Given the description of an element on the screen output the (x, y) to click on. 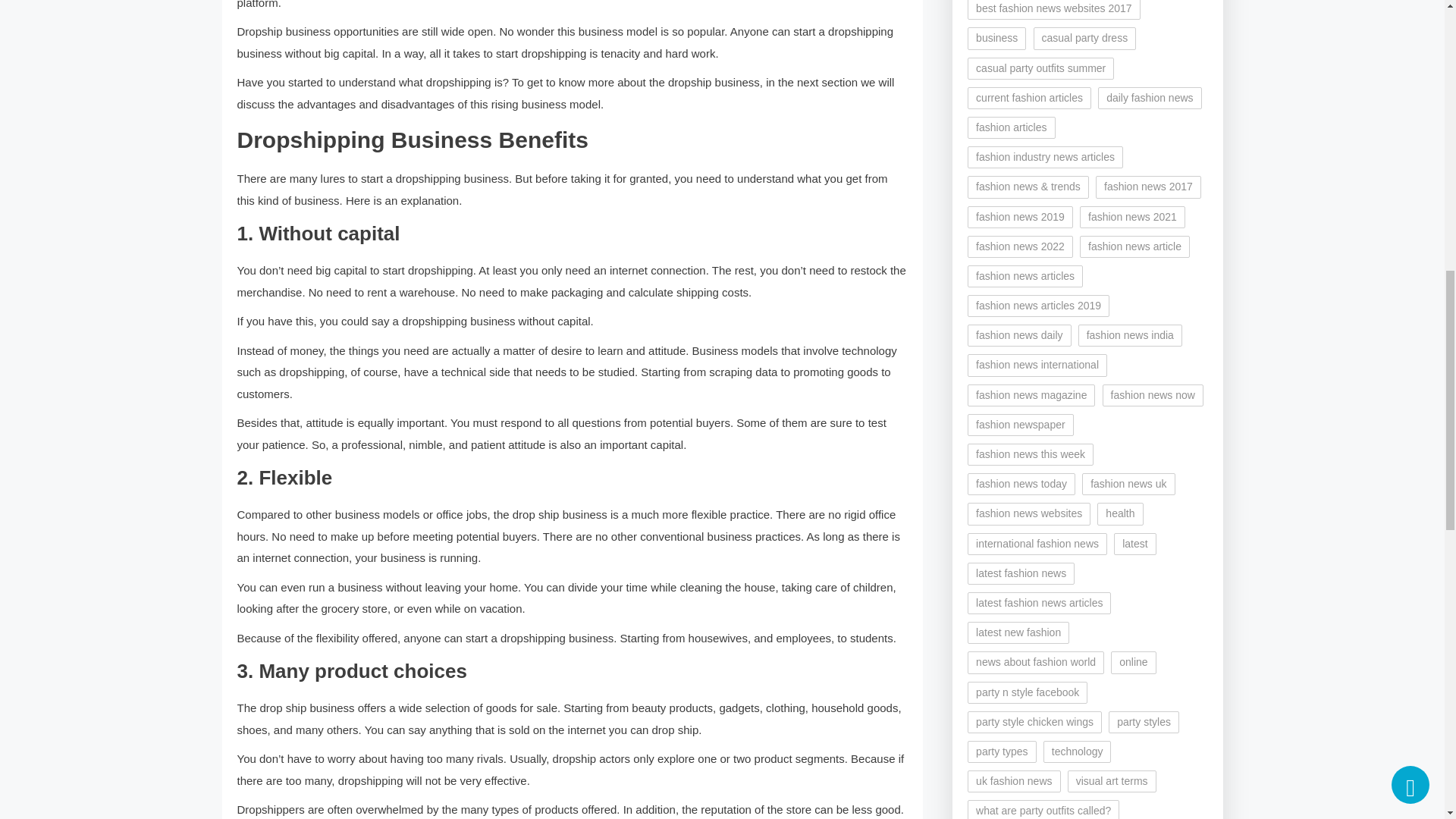
casual party dress (1085, 38)
business (997, 38)
best fashion news websites 2017 (1054, 9)
